Given the description of an element on the screen output the (x, y) to click on. 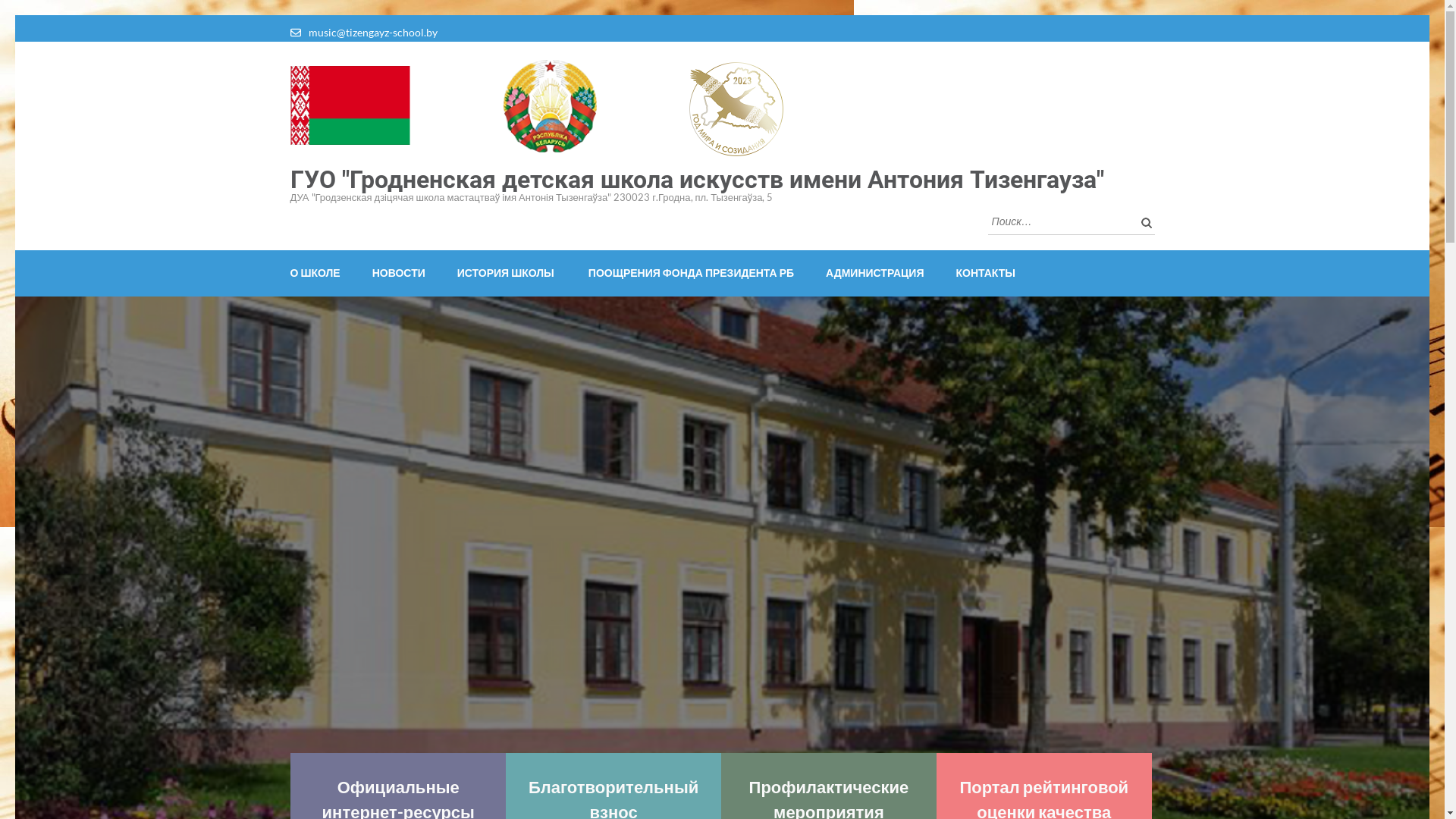
music@tizengayz-school.by Element type: text (371, 31)
